Given the description of an element on the screen output the (x, y) to click on. 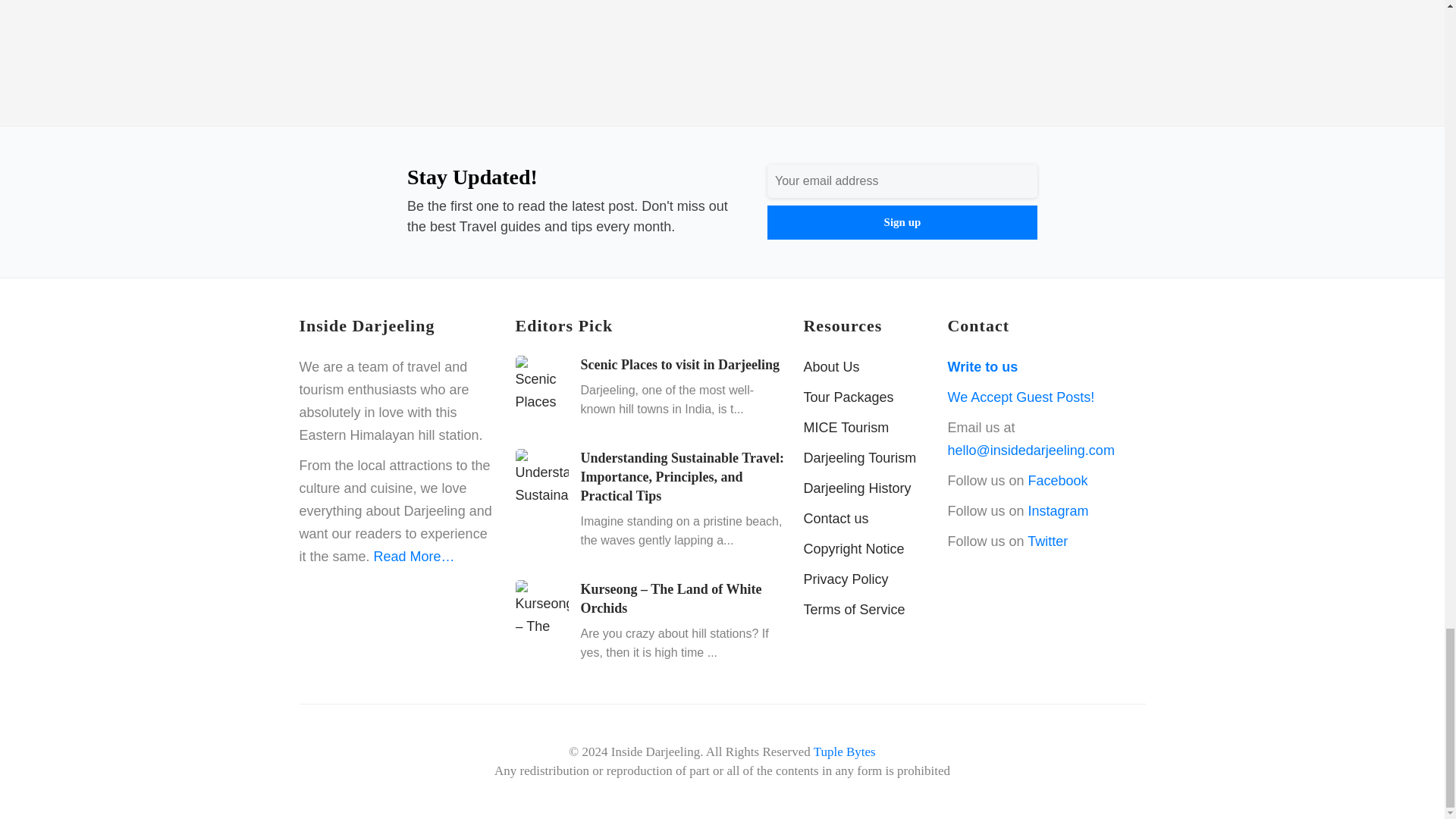
Sign up (901, 222)
